Given the description of an element on the screen output the (x, y) to click on. 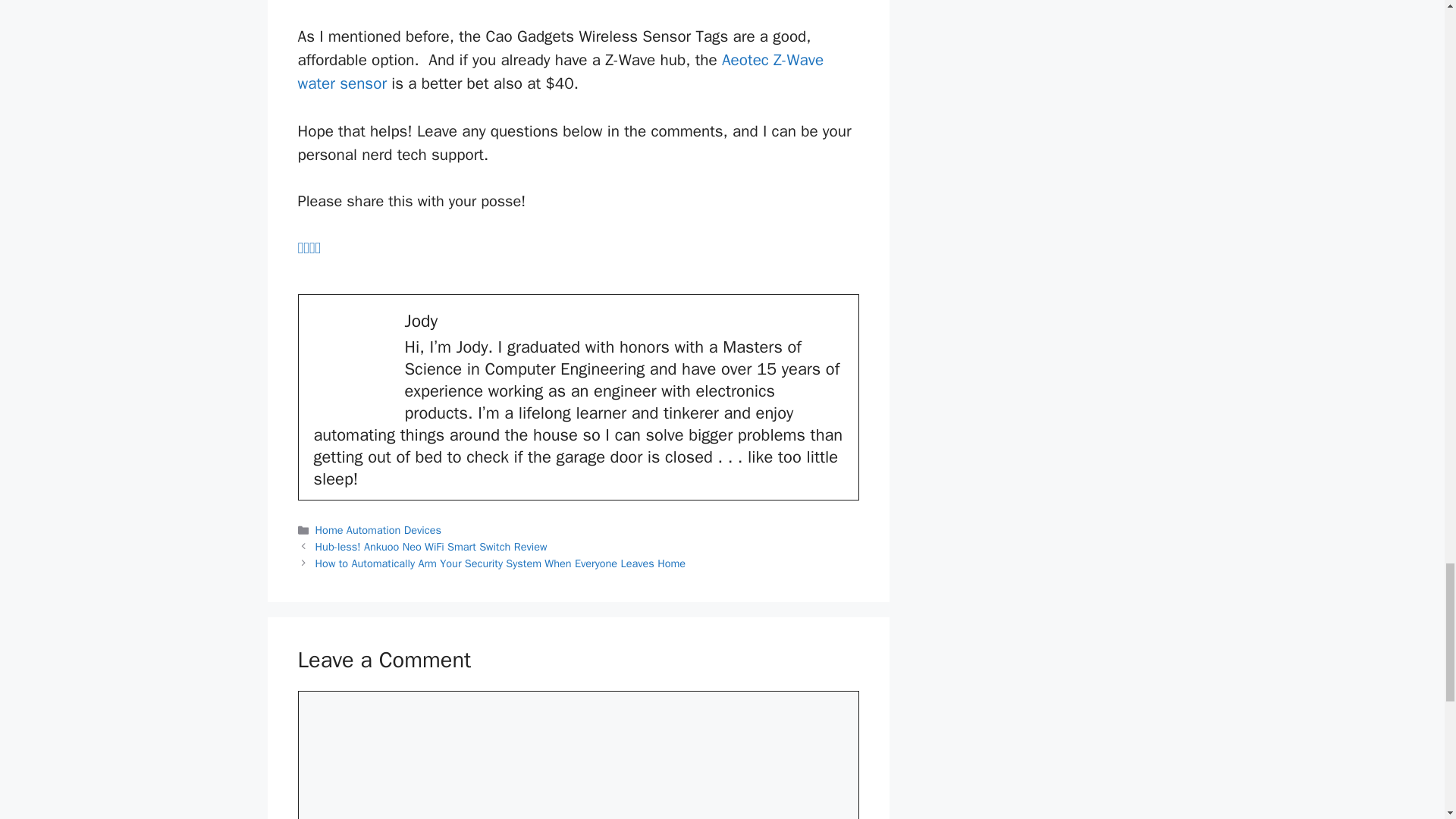
Home Automation Devices (378, 530)
Aeotec Z-Wave water sensor (560, 71)
Jody (421, 321)
Hub-less! Ankuoo Neo WiFi Smart Switch Review (431, 546)
